Given the description of an element on the screen output the (x, y) to click on. 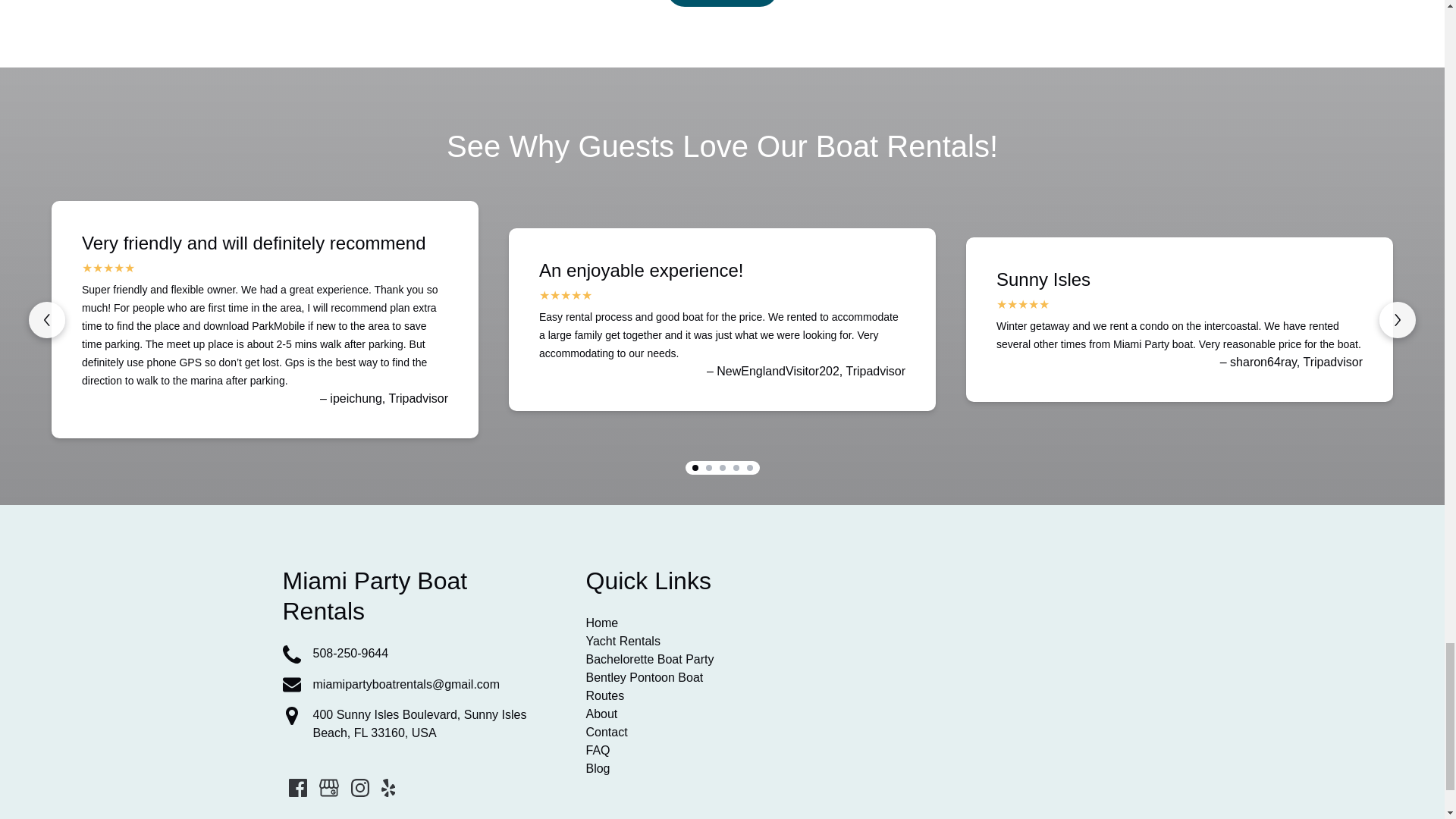
5 (748, 467)
Map Marker (290, 715)
Previous (47, 320)
1 (694, 467)
Envelope (290, 684)
Phone (290, 654)
Next (418, 653)
400 Sunny Isles Boulevard, Sunny Isles Beach, FL 33160, USA (1396, 320)
3 (419, 723)
4 (722, 467)
2 (735, 467)
